Given the description of an element on the screen output the (x, y) to click on. 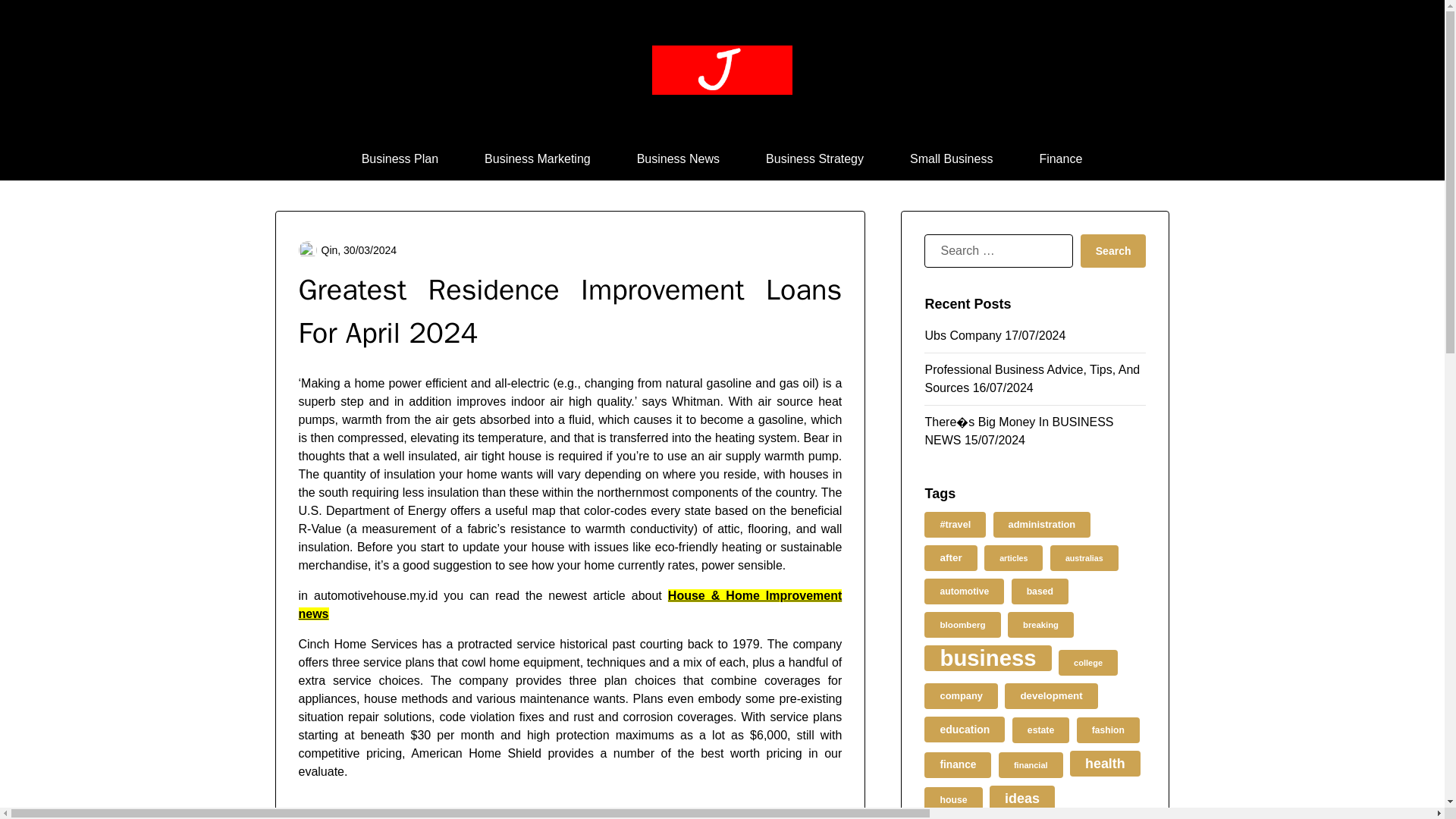
april (390, 813)
Small Business (950, 158)
Search (1113, 250)
Professional Business Advice, Tips, And Sources (1032, 378)
Search (1113, 250)
Business Plan (400, 158)
improvement (544, 813)
Business News (678, 158)
Ubs Company (962, 335)
residence (698, 813)
Business Marketing (536, 158)
loans (624, 813)
articles (1013, 557)
News (327, 813)
after (950, 557)
